Given the description of an element on the screen output the (x, y) to click on. 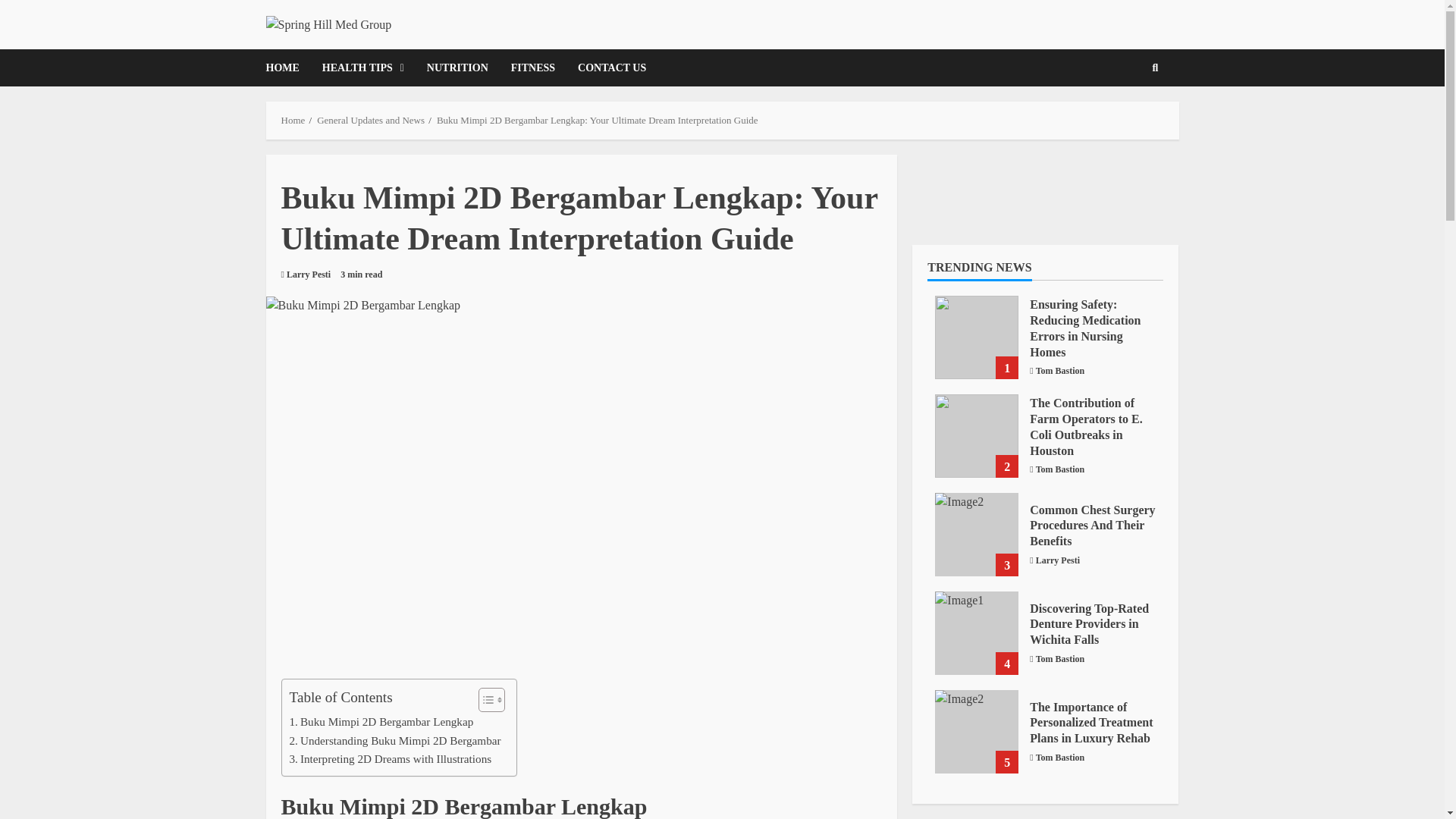
Search (1131, 119)
Buku Mimpi 2D Bergambar Lengkap (381, 721)
Larry Pesti (308, 274)
FITNESS (532, 67)
Search (1155, 68)
Home (292, 120)
HEALTH TIPS (362, 67)
Buku Mimpi 2D Bergambar Lengkap (381, 721)
CONTACT US (606, 67)
Understanding Buku Mimpi 2D Bergambar (394, 741)
General Updates and News (371, 120)
Understanding Buku Mimpi 2D Bergambar (394, 741)
Interpreting 2D Dreams with Illustrations (390, 759)
Interpreting 2D Dreams with Illustrations (390, 759)
HOME (287, 67)
